Given the description of an element on the screen output the (x, y) to click on. 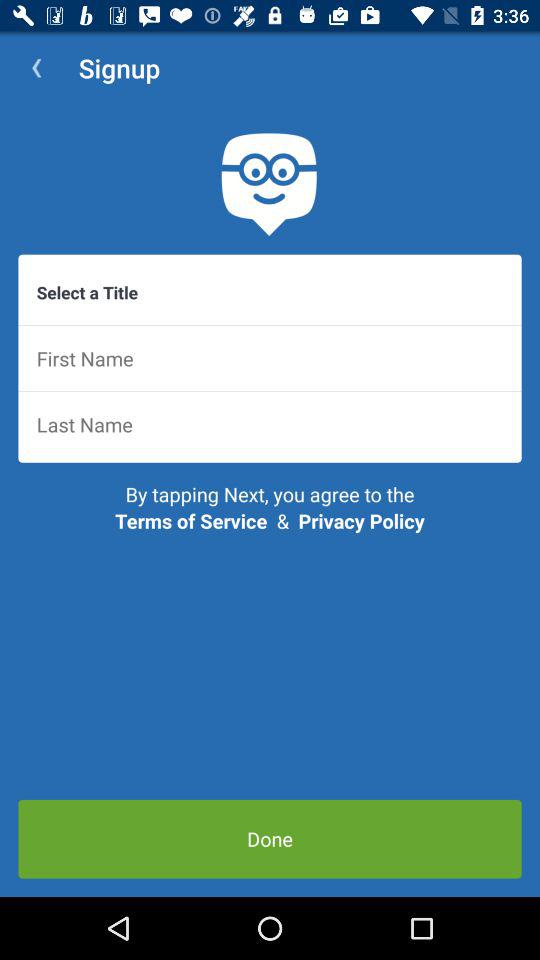
enter first name (269, 358)
